Given the description of an element on the screen output the (x, y) to click on. 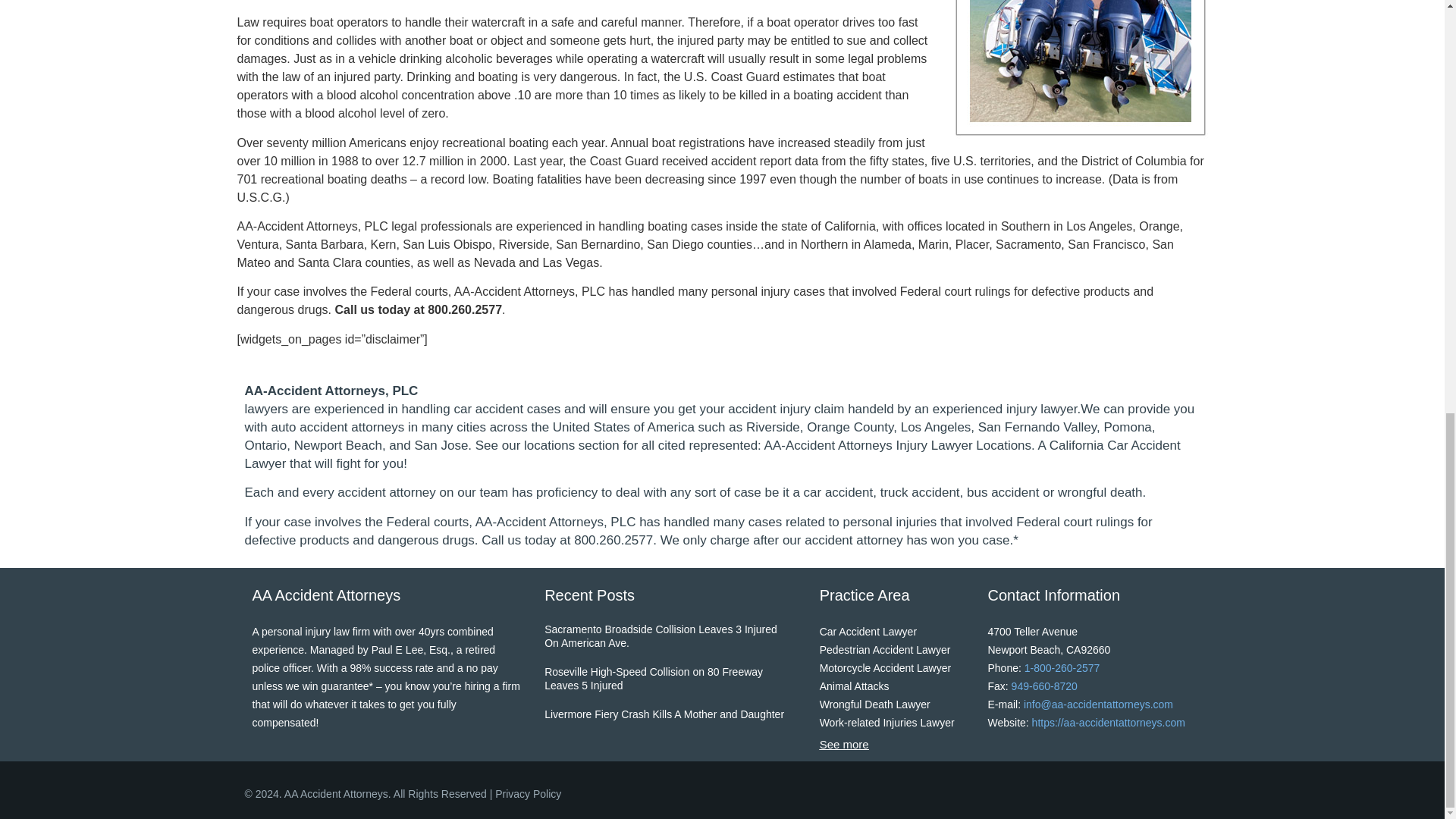
See more (844, 744)
949-660-8720 (1044, 686)
1-800-260-2577 (1062, 667)
Privacy Policy (527, 793)
Livermore Fiery Crash Kills A Mother and Daughter (664, 717)
